Given the description of an element on the screen output the (x, y) to click on. 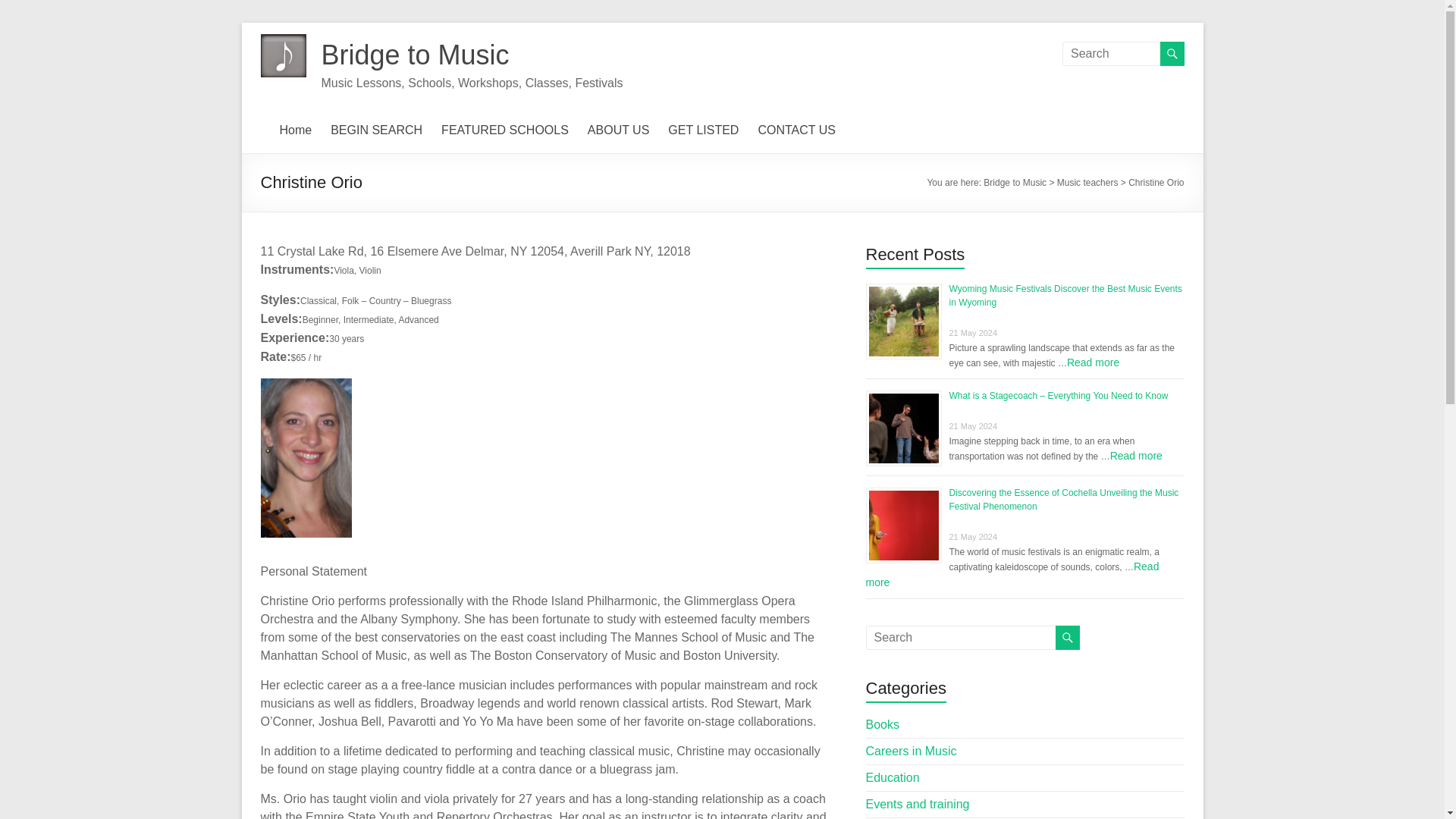
Education (893, 777)
Read more (1135, 455)
BEGIN SEARCH (376, 129)
FEATURED SCHOOLS (505, 129)
Events and training (917, 803)
Go to Bridge to Music. (1015, 182)
Bridge to Music (1015, 182)
GET LISTED (703, 129)
Bridge to Music (415, 54)
Music teachers (1087, 182)
Books (882, 724)
CONTACT US (796, 129)
Home (295, 129)
Go to the Music teachers Category archives. (1087, 182)
